Given the description of an element on the screen output the (x, y) to click on. 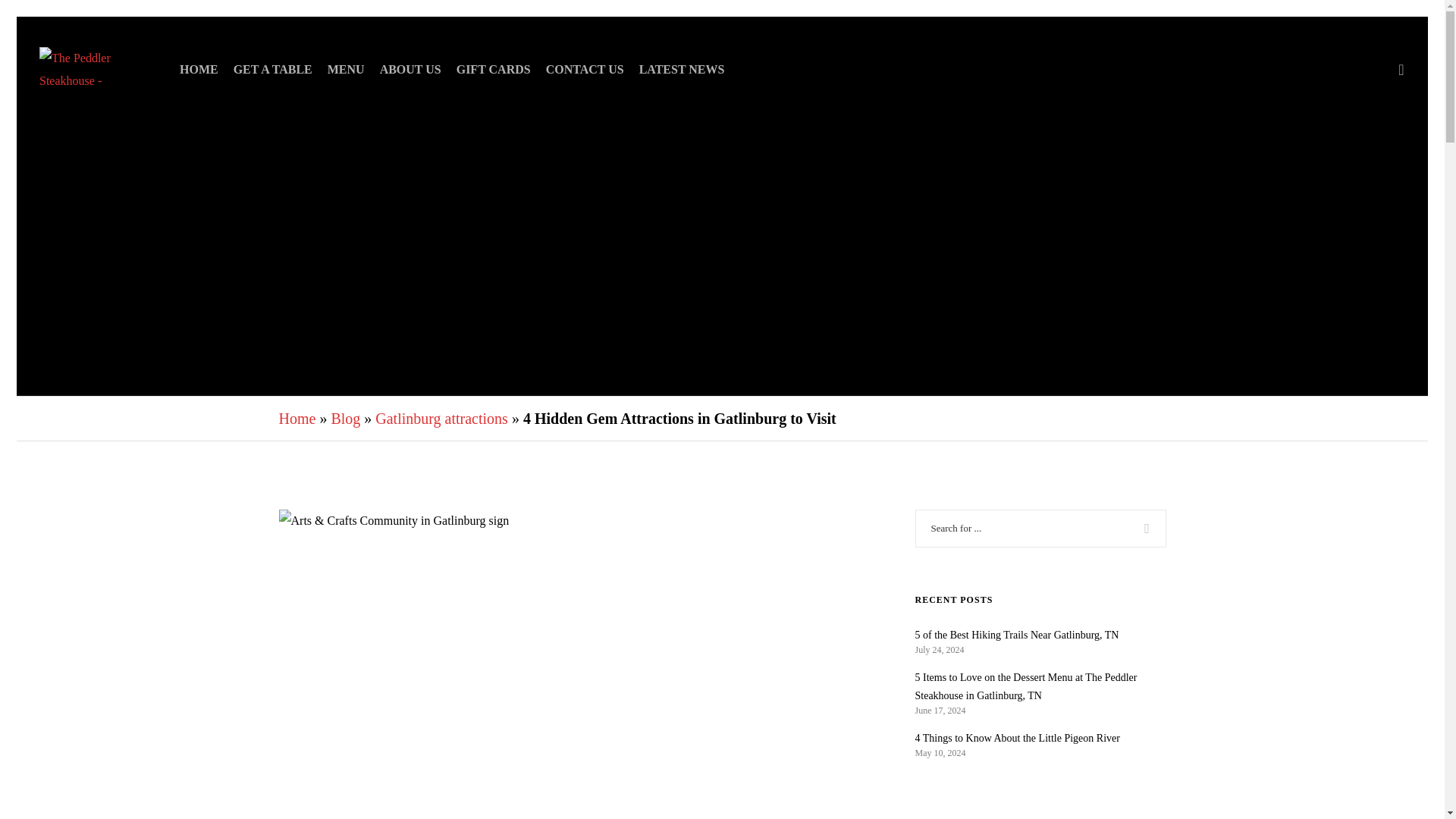
Home (297, 418)
Blog (344, 418)
4 Things to Know About the Little Pigeon River (1040, 738)
4 Things to Know About the Little Pigeon River (1040, 738)
Gatlinburg attractions (441, 418)
5 of the Best Hiking Trails Near Gatlinburg, TN (1040, 635)
5 of the Best Hiking Trails Near Gatlinburg, TN (1040, 635)
